Given the description of an element on the screen output the (x, y) to click on. 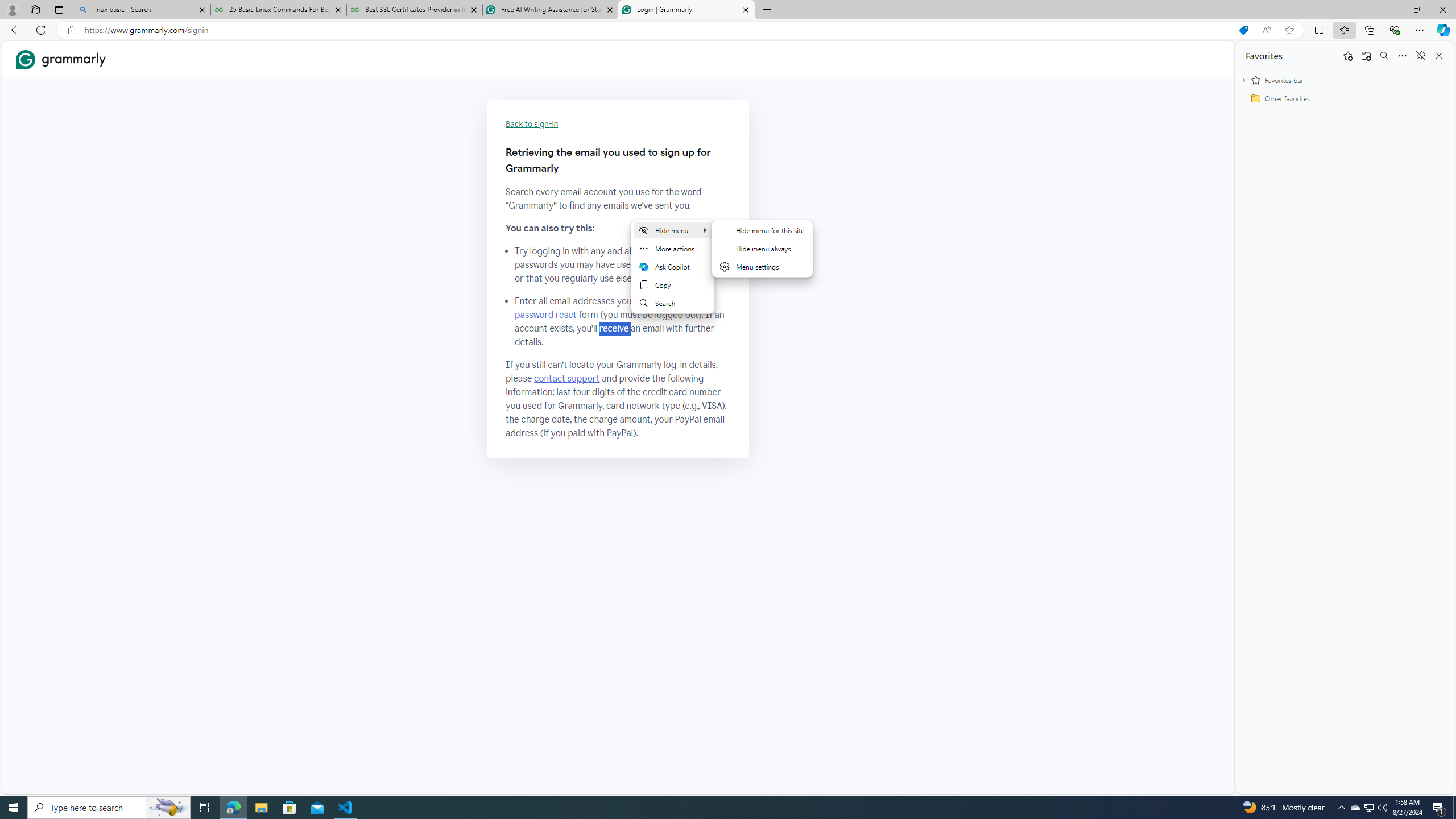
Menu settings (761, 266)
Hide menu (762, 255)
Ask Copilot (672, 266)
Hide menu (672, 230)
Hide menu for this site (761, 230)
Grammarly Home (61, 59)
More actions (672, 248)
